Given the description of an element on the screen output the (x, y) to click on. 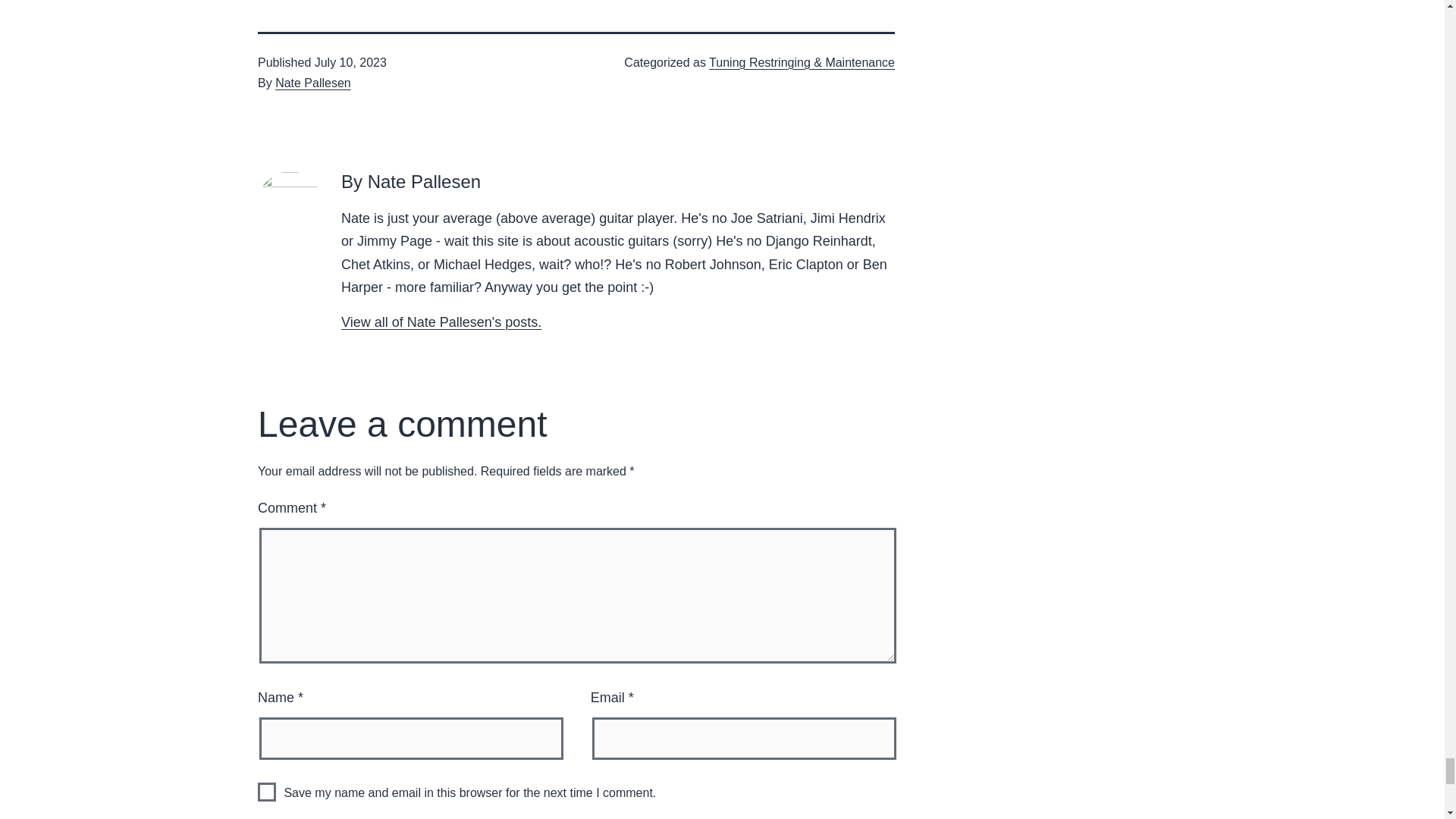
yes (266, 791)
